Given the description of an element on the screen output the (x, y) to click on. 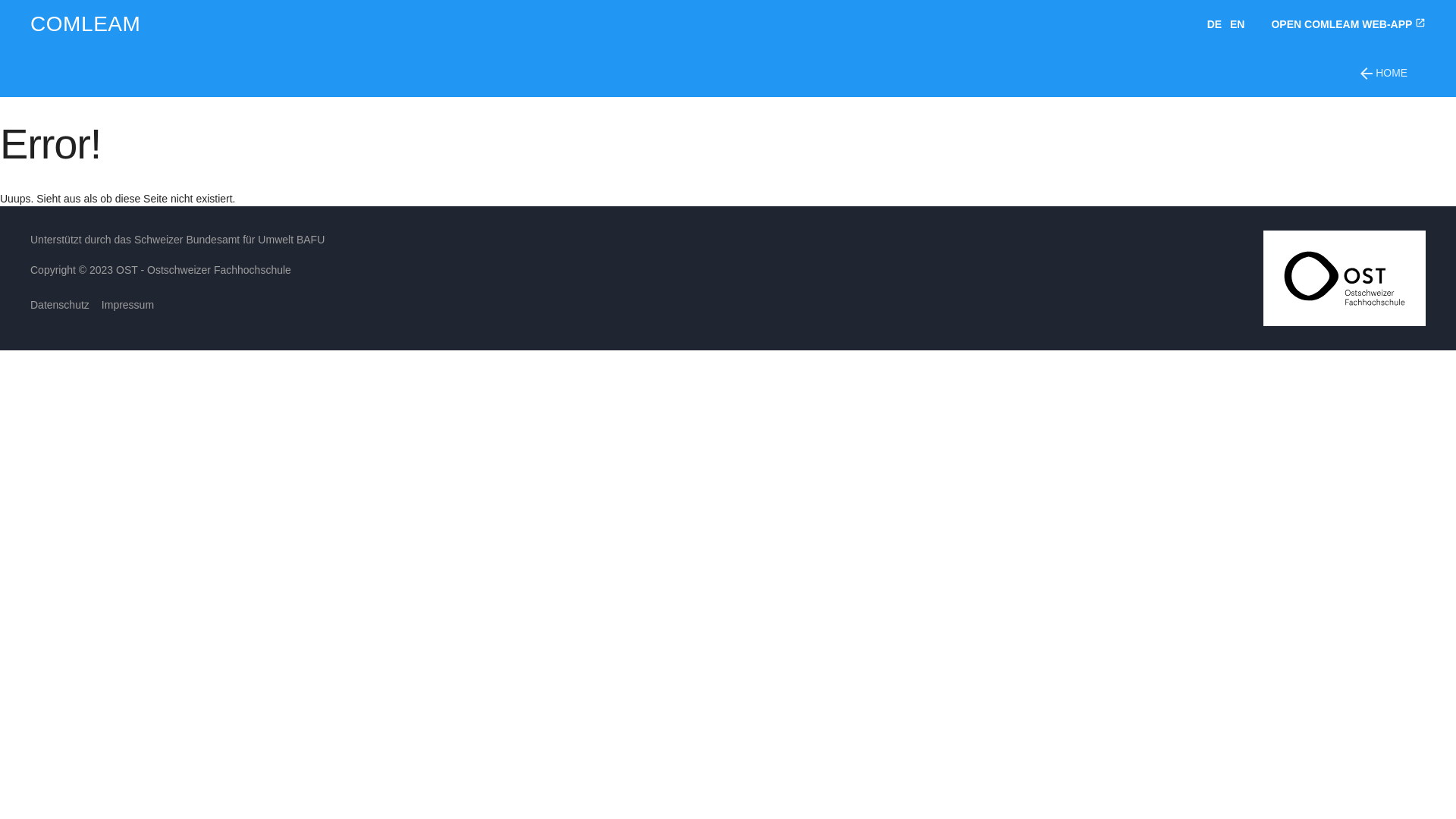
COMLEAM Element type: text (85, 23)
DE Element type: text (1216, 24)
EN Element type: text (1239, 24)
arrow_backHOME Element type: text (1382, 72)
OPEN COMLEAM WEB-APP open_in_new Element type: text (1347, 24)
Datenschutz Element type: text (59, 304)
Impressum Element type: text (127, 304)
